Given the description of an element on the screen output the (x, y) to click on. 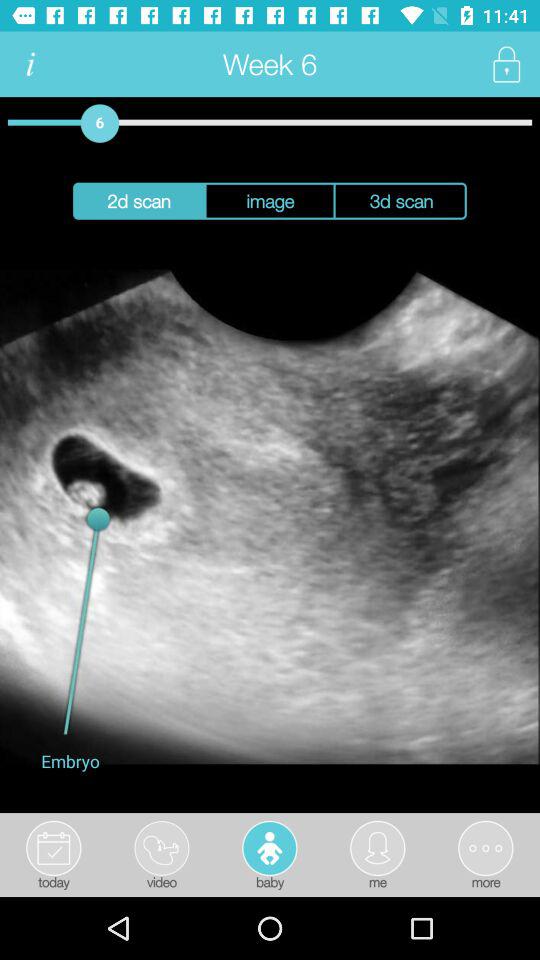
swipe until the 2d scan icon (138, 200)
